Given the description of an element on the screen output the (x, y) to click on. 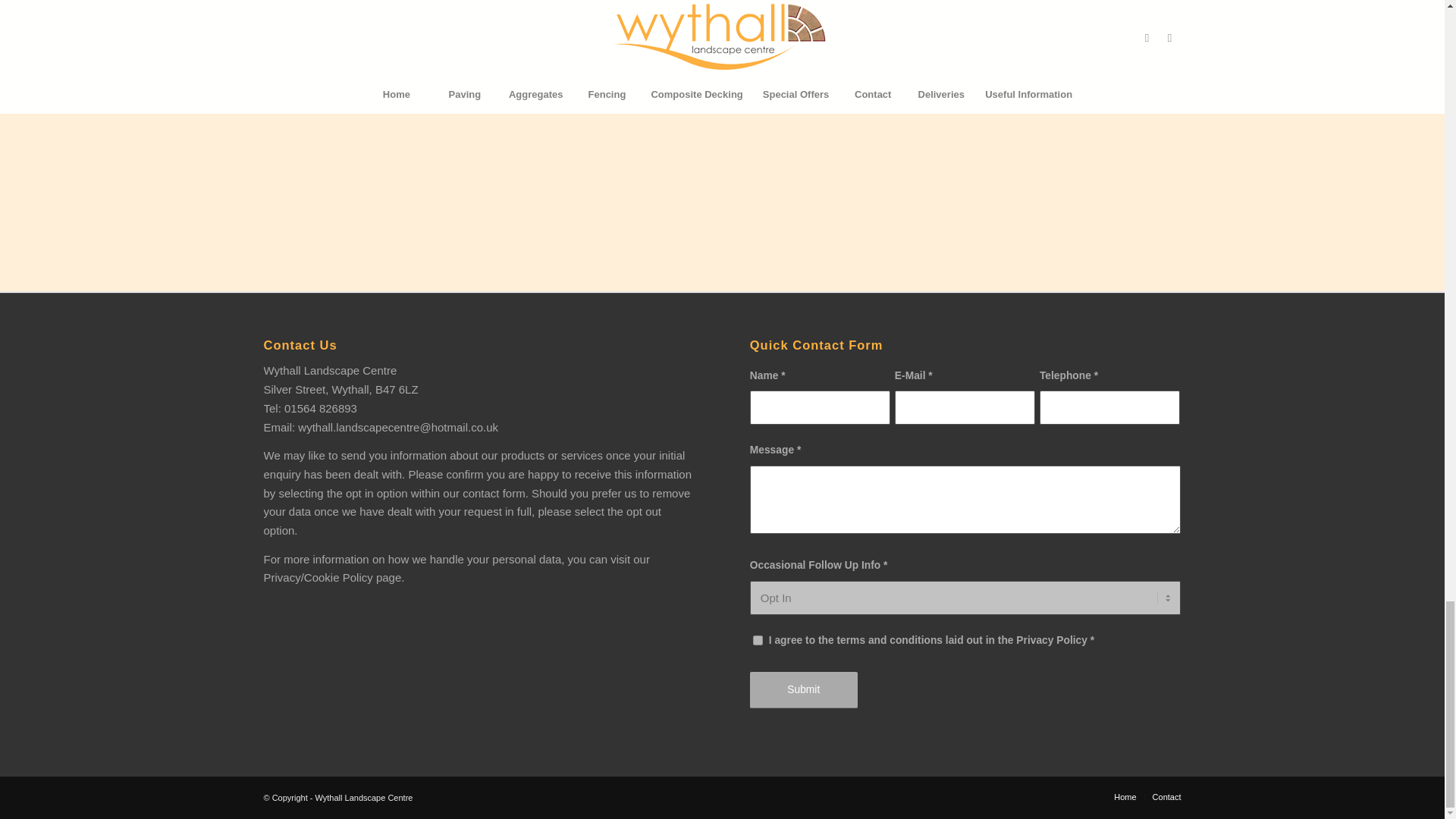
true (757, 640)
Submit (803, 689)
